Given the description of an element on the screen output the (x, y) to click on. 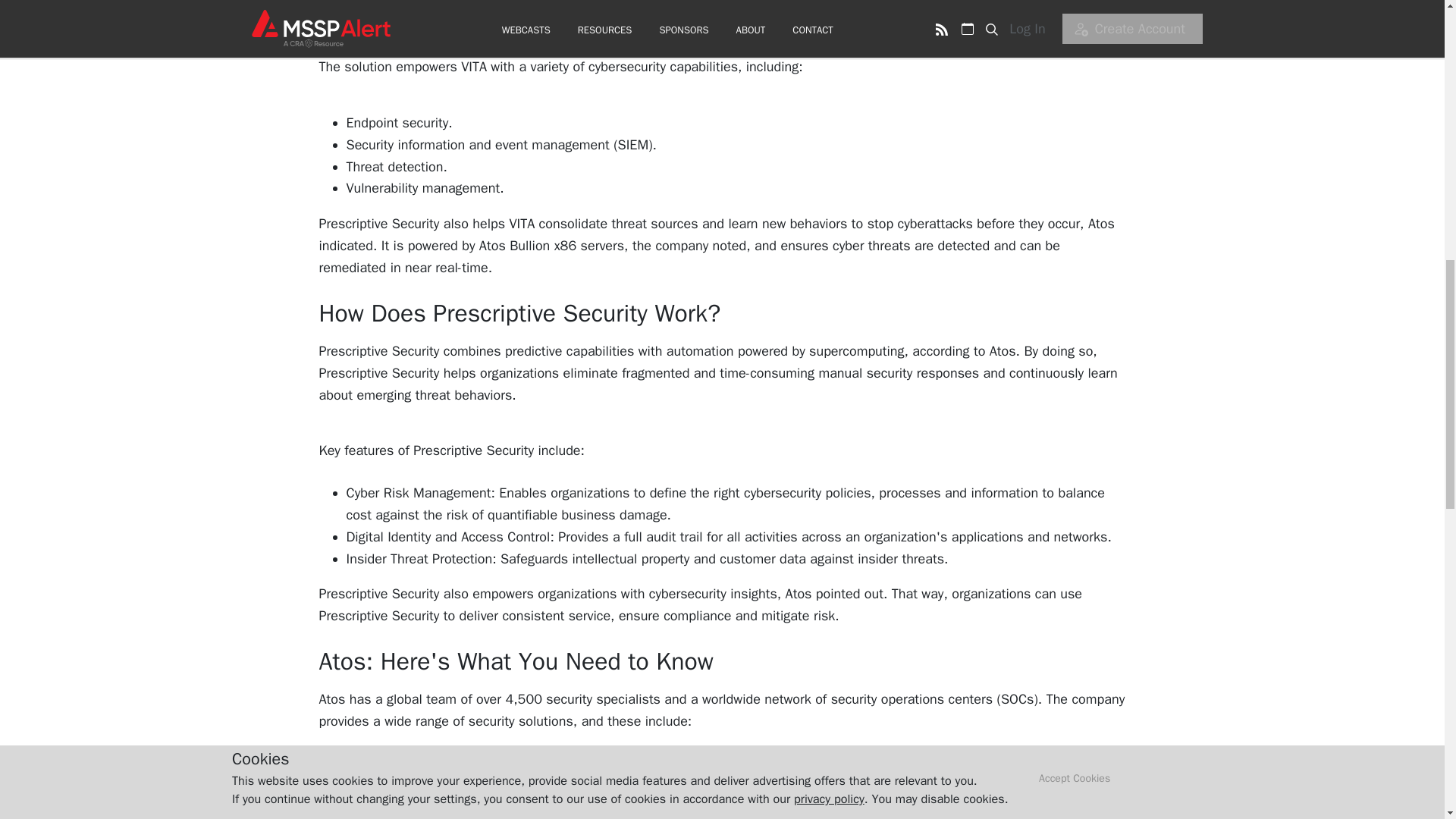
prepared statement (658, 23)
